Given the description of an element on the screen output the (x, y) to click on. 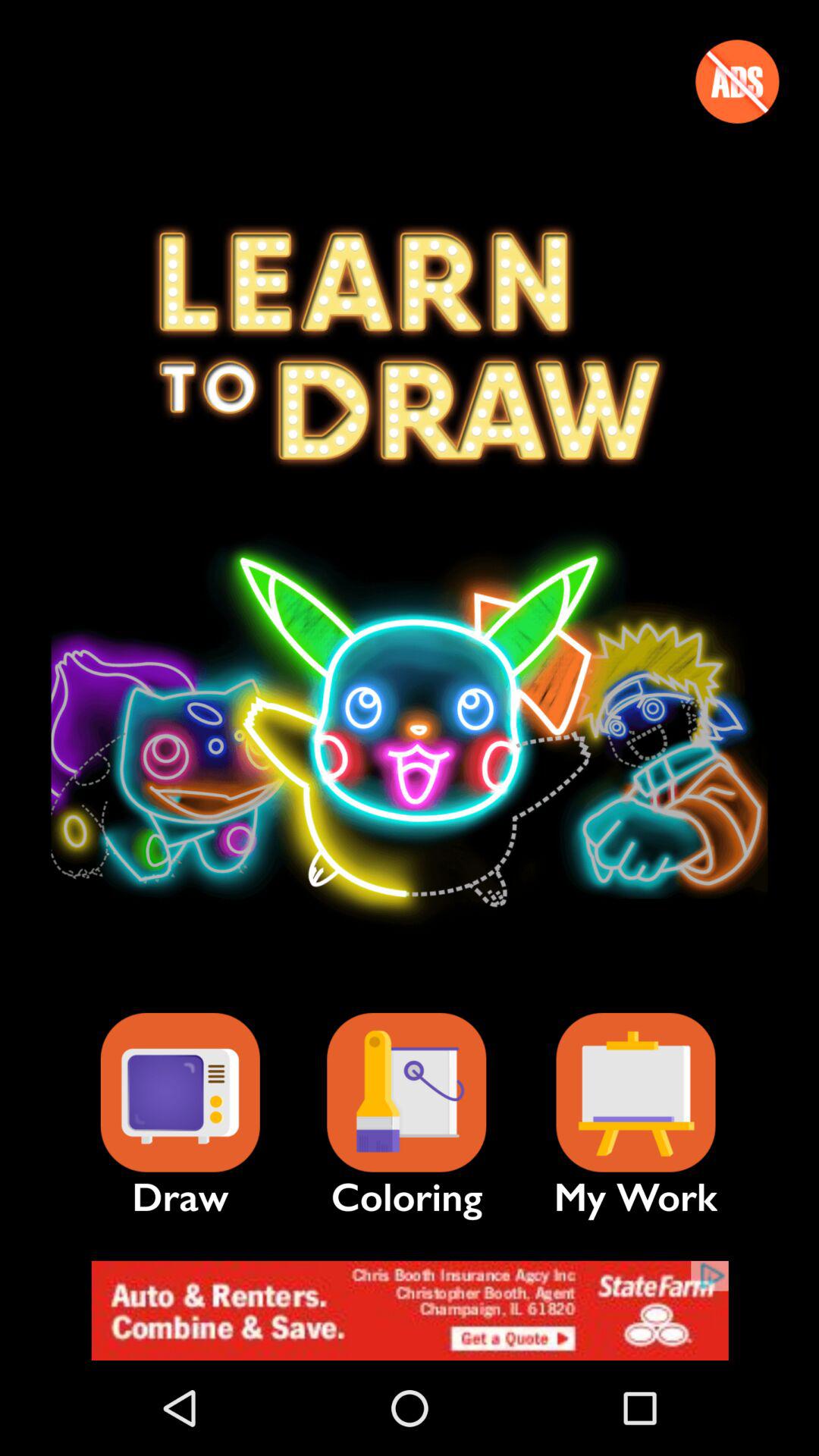
draw (179, 1092)
